Given the description of an element on the screen output the (x, y) to click on. 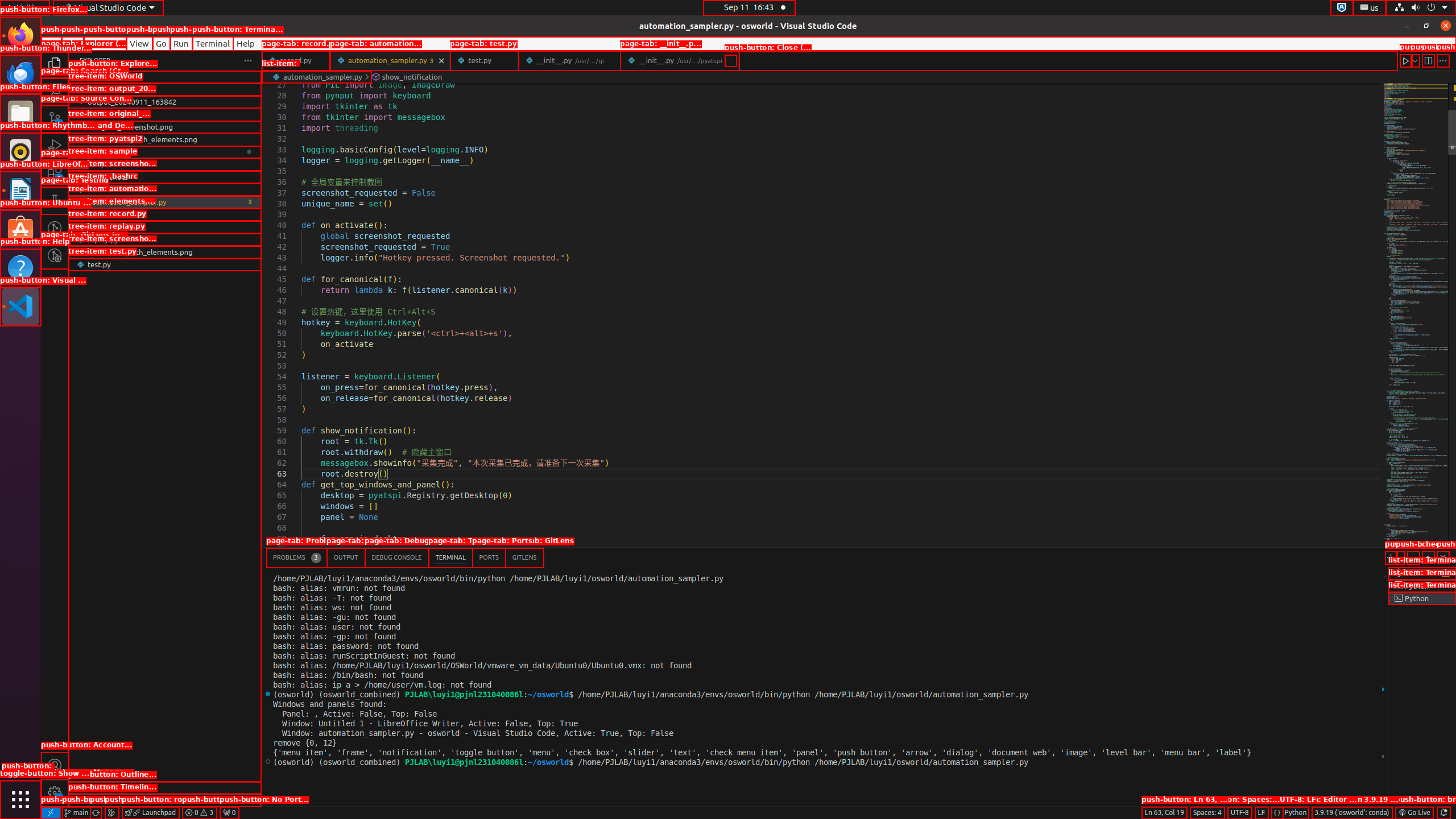
Accounts Element type: push-button (54, 765)
Run and Debug (Ctrl+Shift+D) Element type: page-tab (54, 145)
3.9.19 ('osworld': conda), ~/anaconda3/envs/osworld/bin/python Element type: push-button (1351, 812)
Outline Section Element type: push-button (164, 787)
OSWorld Element type: tree-item (164, 89)
